Given the description of an element on the screen output the (x, y) to click on. 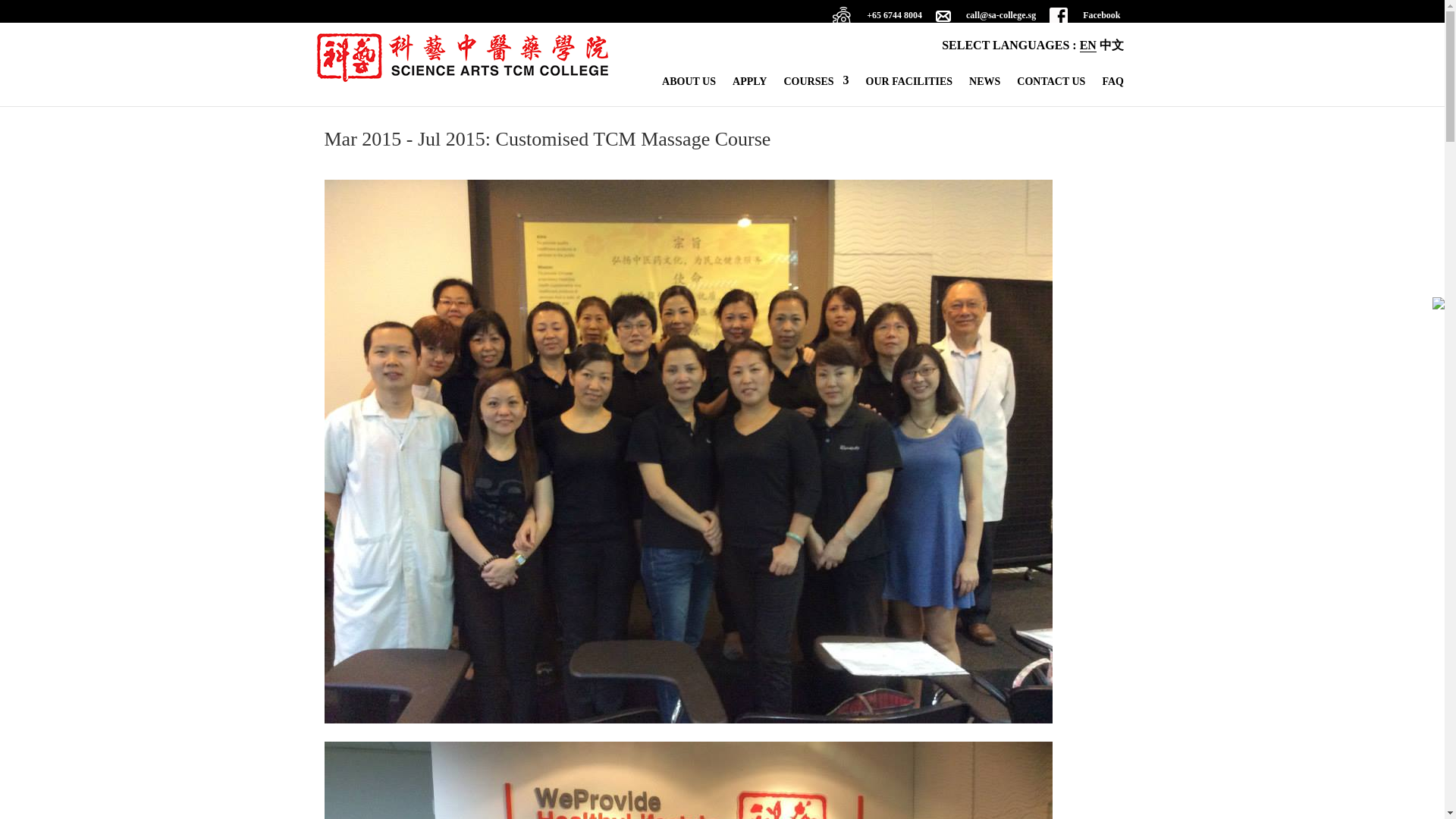
Facebook (1084, 19)
ABOUT US (689, 87)
COURSES (815, 87)
OUR FACILITIES (909, 87)
CONTACT US (1050, 87)
EN (1088, 45)
